Given the description of an element on the screen output the (x, y) to click on. 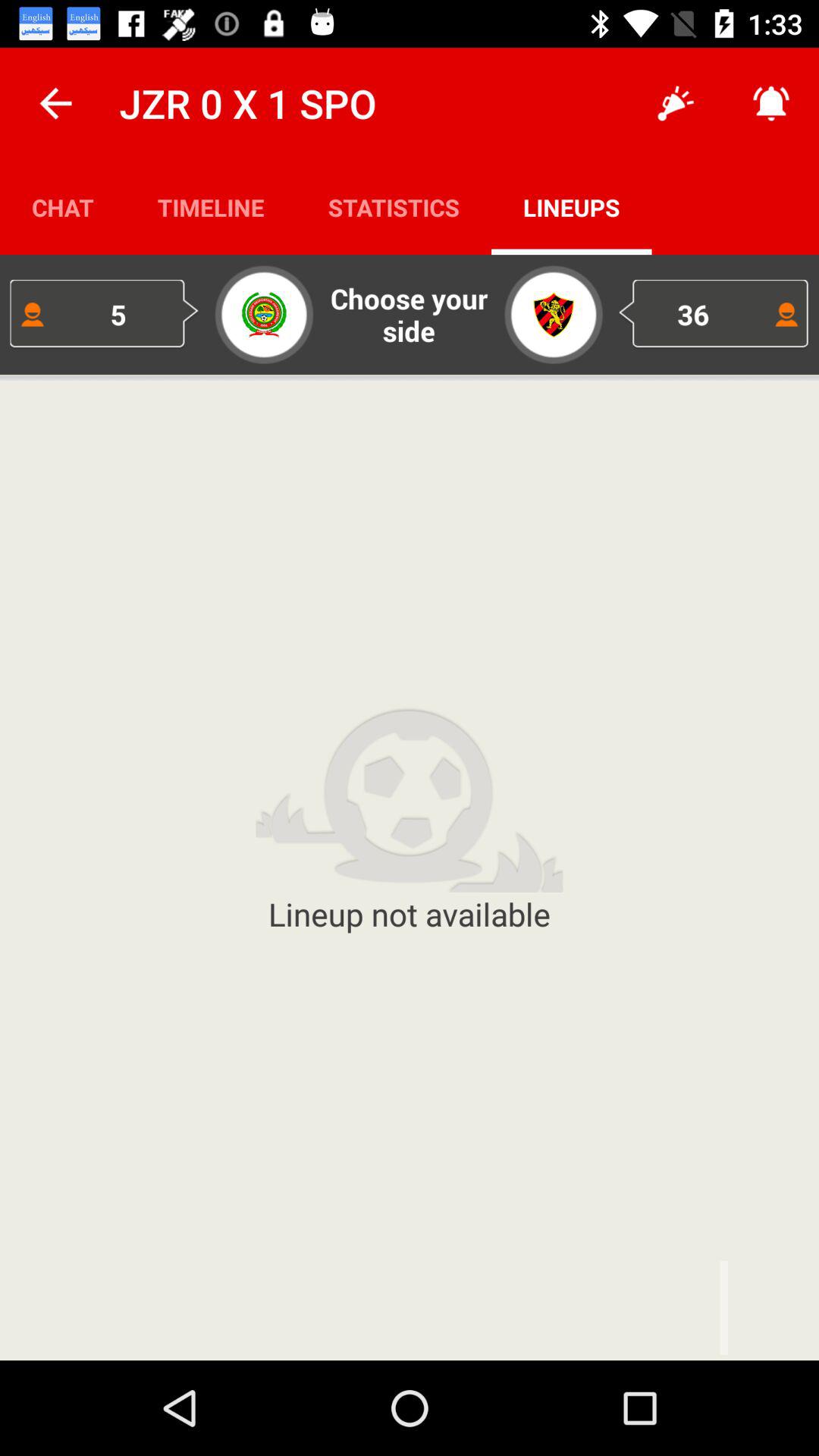
flip to 5  item (104, 314)
